Given the description of an element on the screen output the (x, y) to click on. 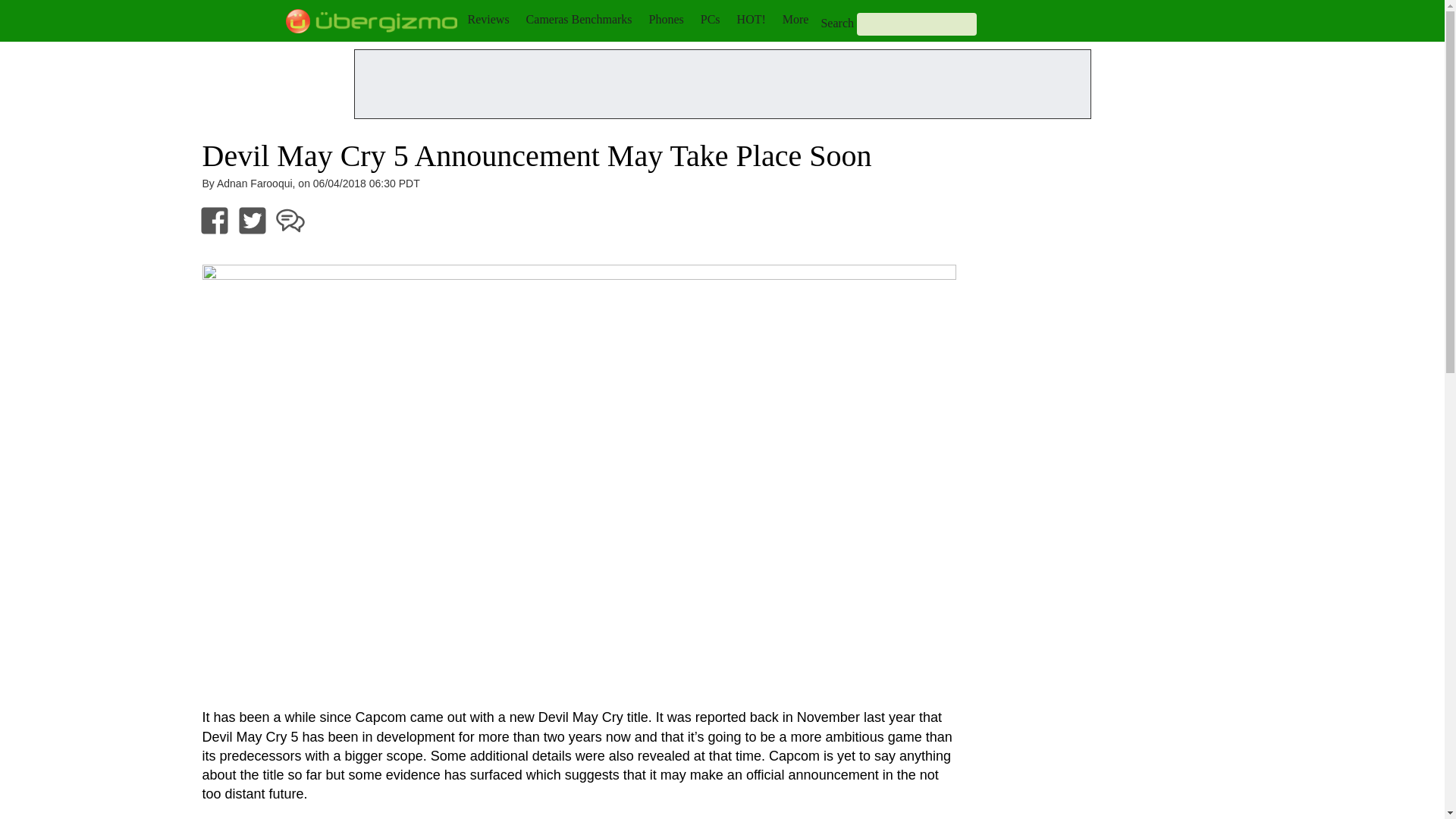
Reviews (487, 19)
Cameras Benchmarks (578, 19)
PCs (710, 19)
Phones (666, 19)
